Given the description of an element on the screen output the (x, y) to click on. 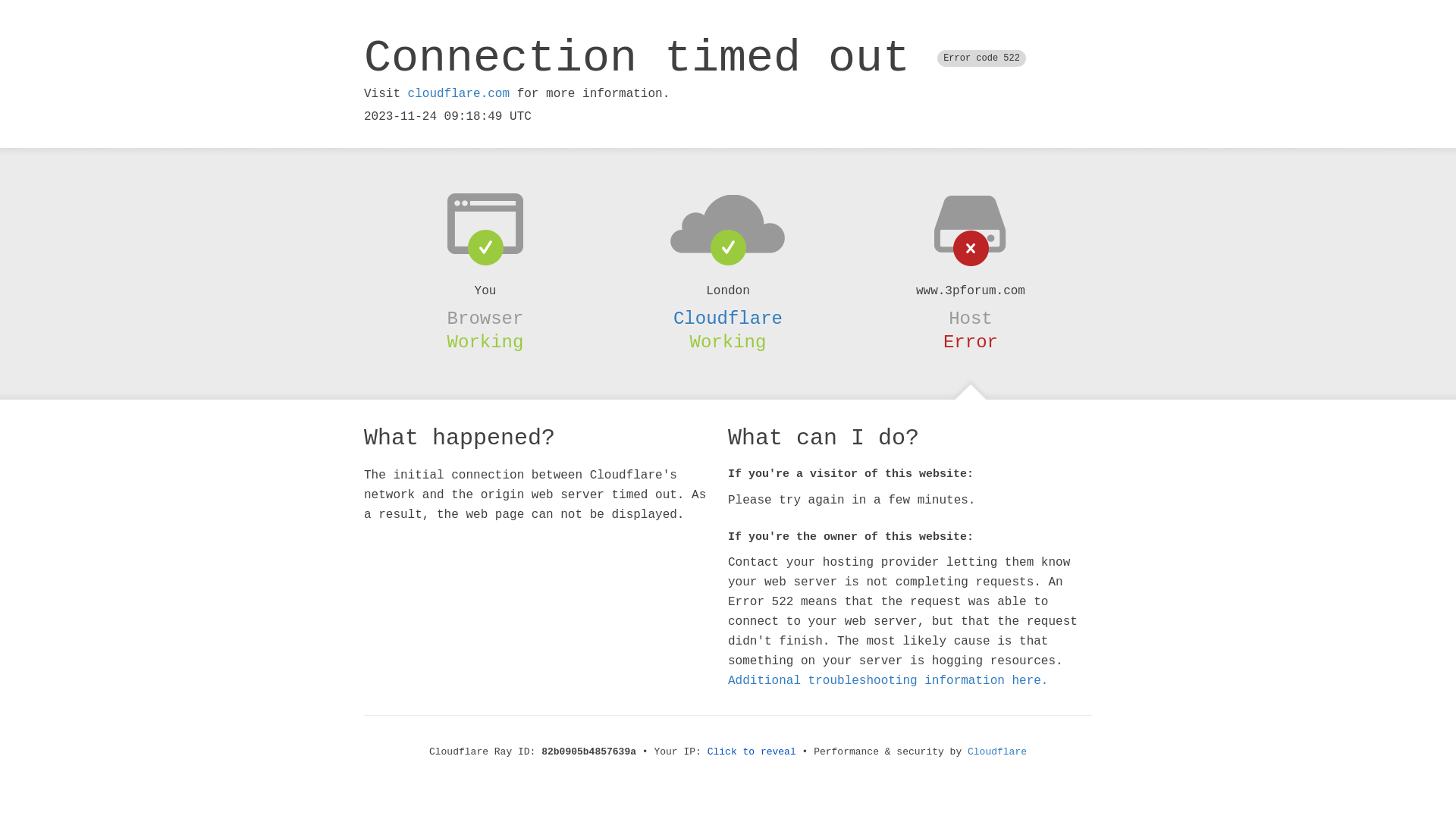
cloudflare.com Element type: text (458, 93)
Click to reveal Element type: text (751, 751)
Cloudflare Element type: text (727, 318)
Additional troubleshooting information here. Element type: text (888, 680)
Cloudflare Element type: text (996, 751)
